Given the description of an element on the screen output the (x, y) to click on. 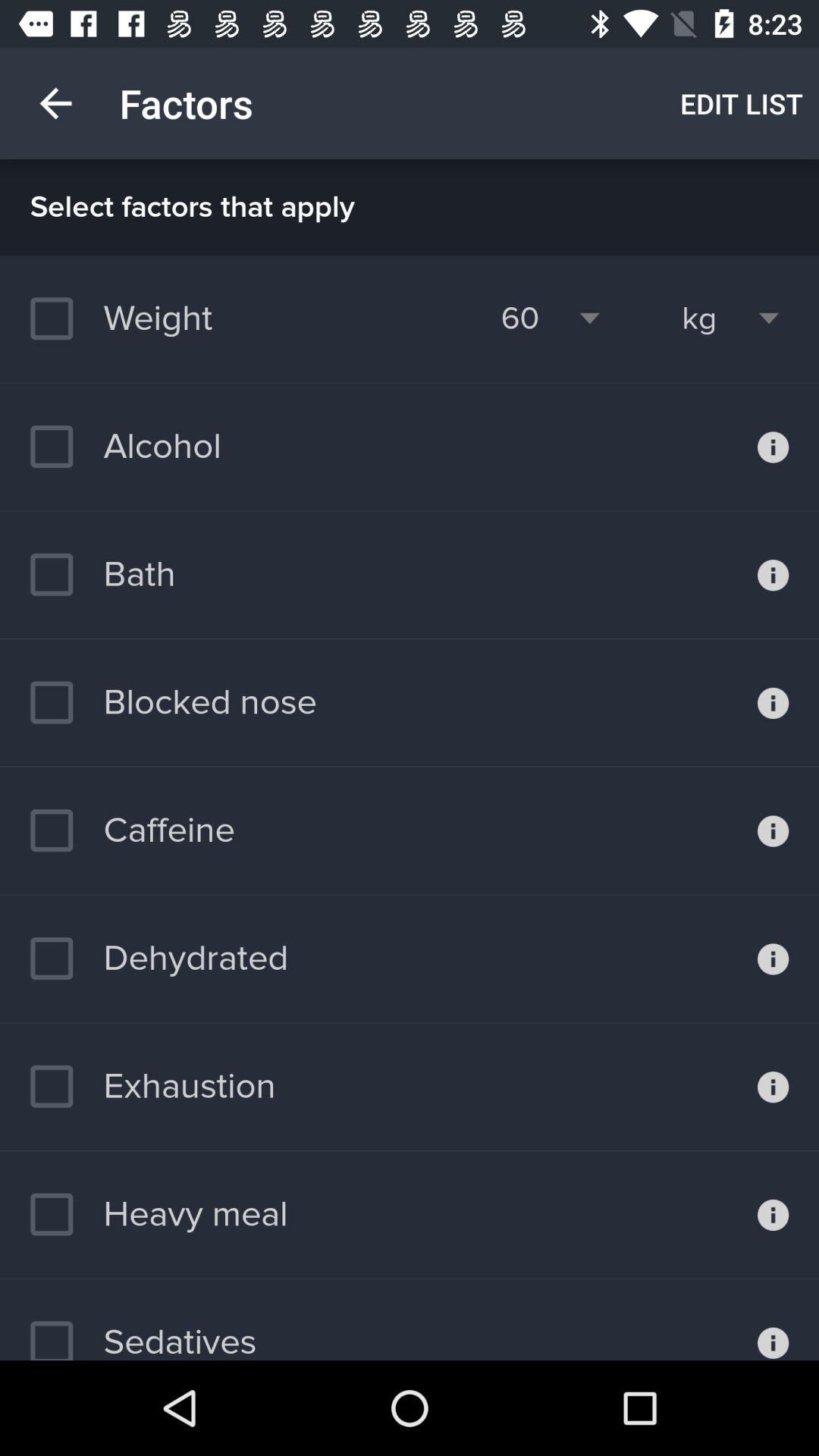
launch icon above the alcohol item (129, 318)
